Given the description of an element on the screen output the (x, y) to click on. 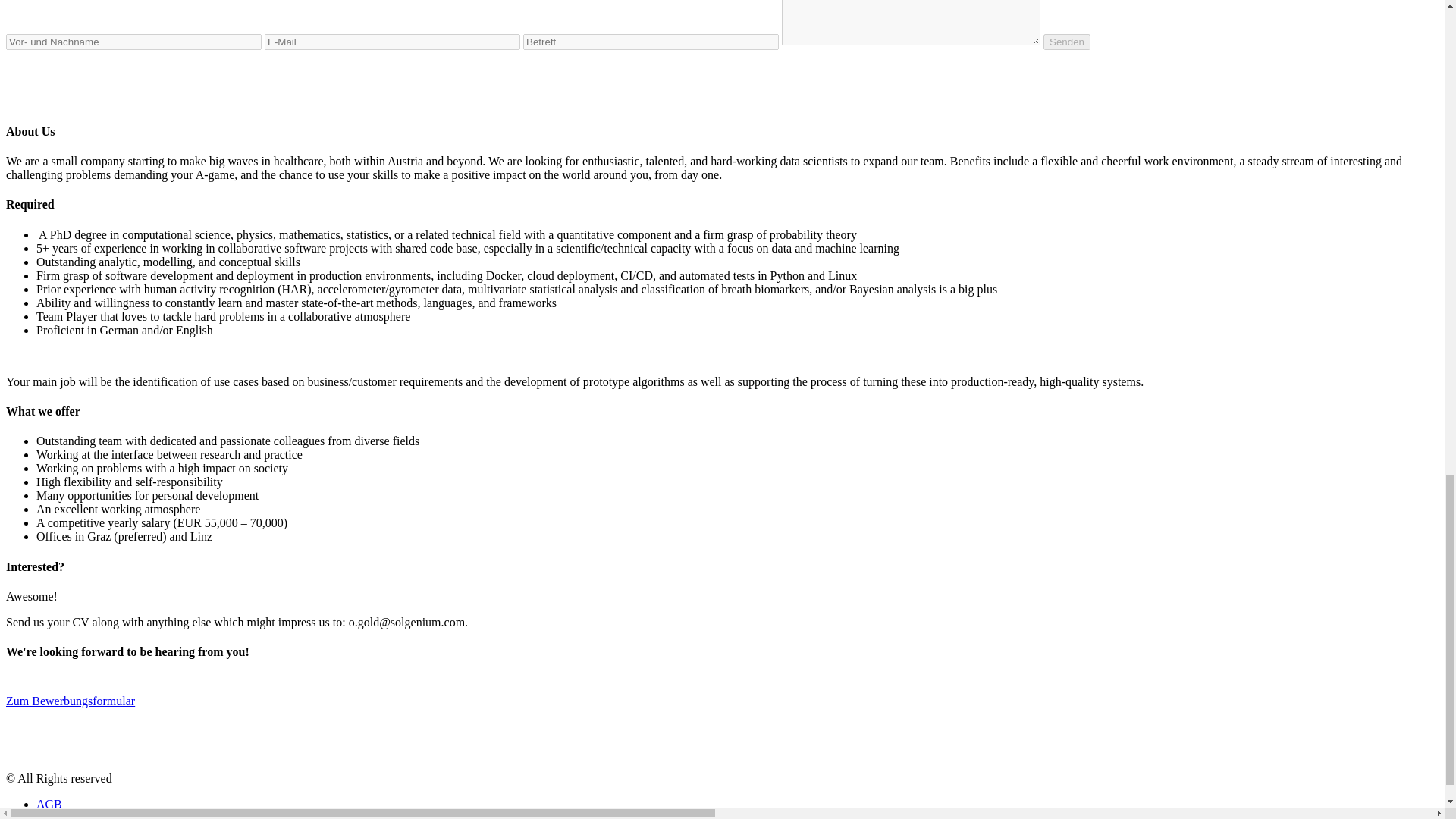
AGB (49, 803)
Senden (1066, 41)
Zum Bewerbungsformular (100, 700)
Senden (1066, 41)
